Given the description of an element on the screen output the (x, y) to click on. 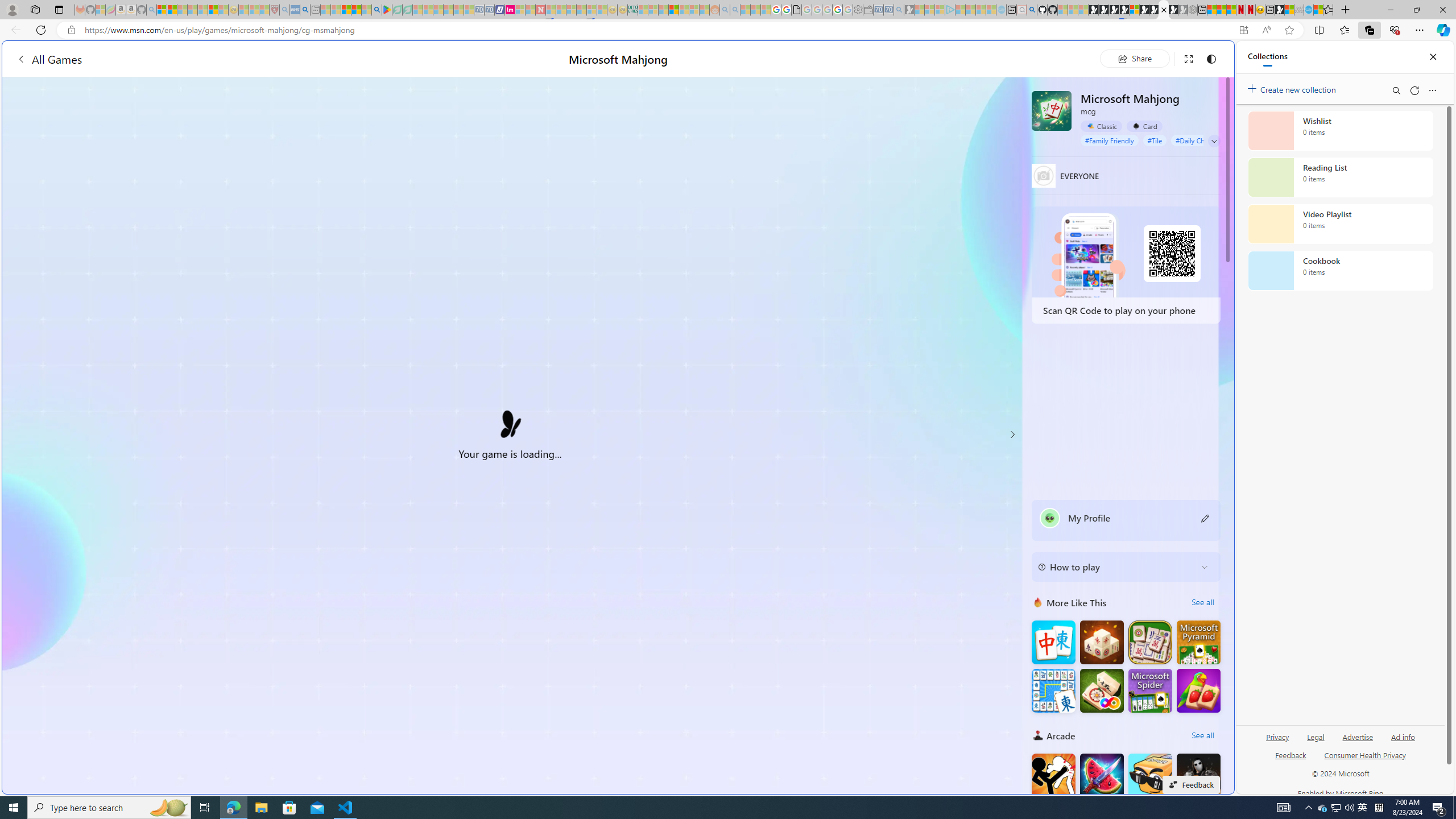
See all (1202, 735)
Sign in to your account (1134, 9)
Class: image (510, 422)
Jobs - lastminute.com Investor Portal (509, 9)
